Given the description of an element on the screen output the (x, y) to click on. 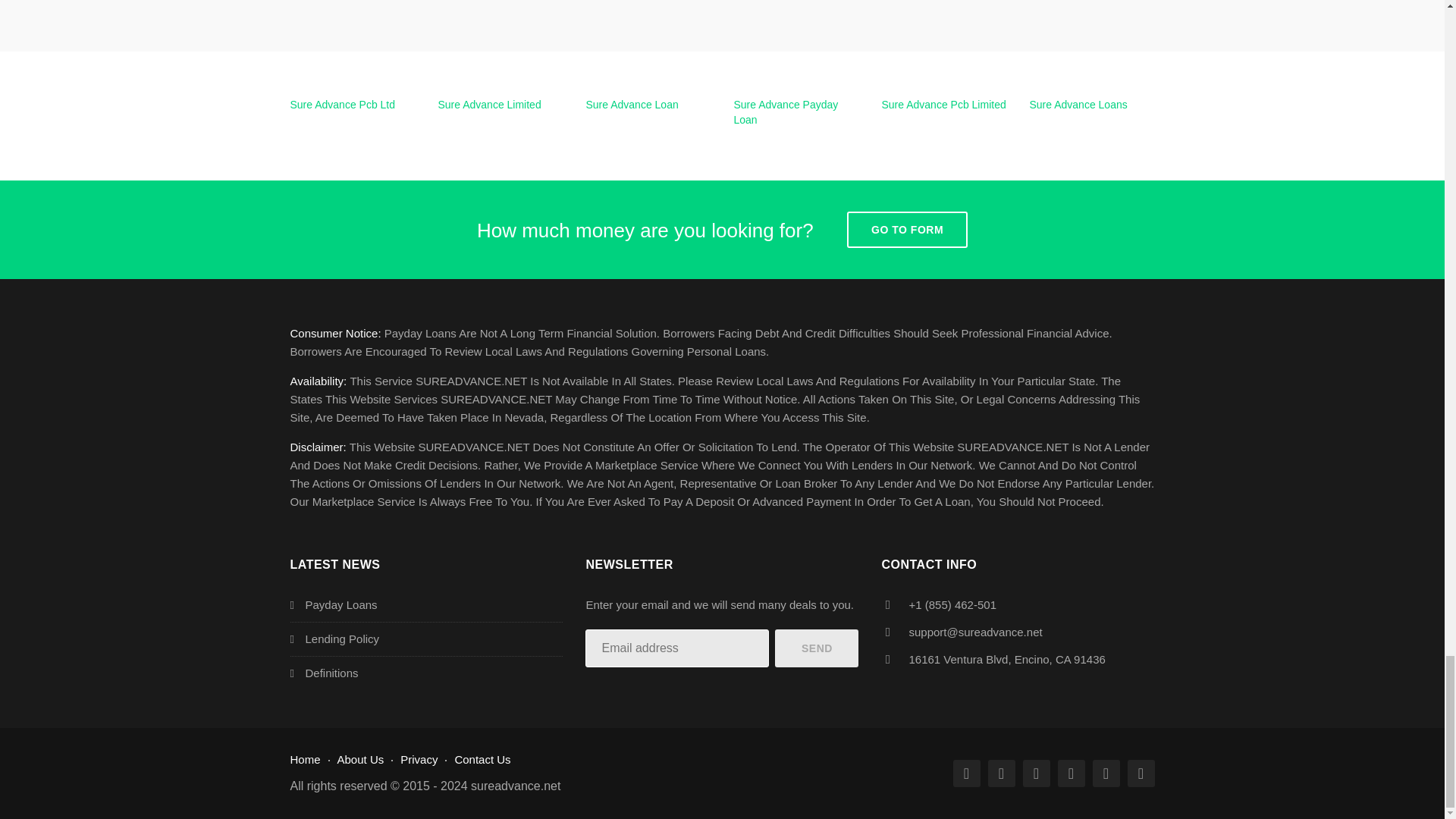
Twitter (1000, 773)
Dribbble (1140, 773)
Google Plus (1035, 773)
Sure Advance (515, 785)
Send (816, 648)
Pinterest (1070, 773)
Facebook (965, 773)
Instagram (1105, 773)
